Given the description of an element on the screen output the (x, y) to click on. 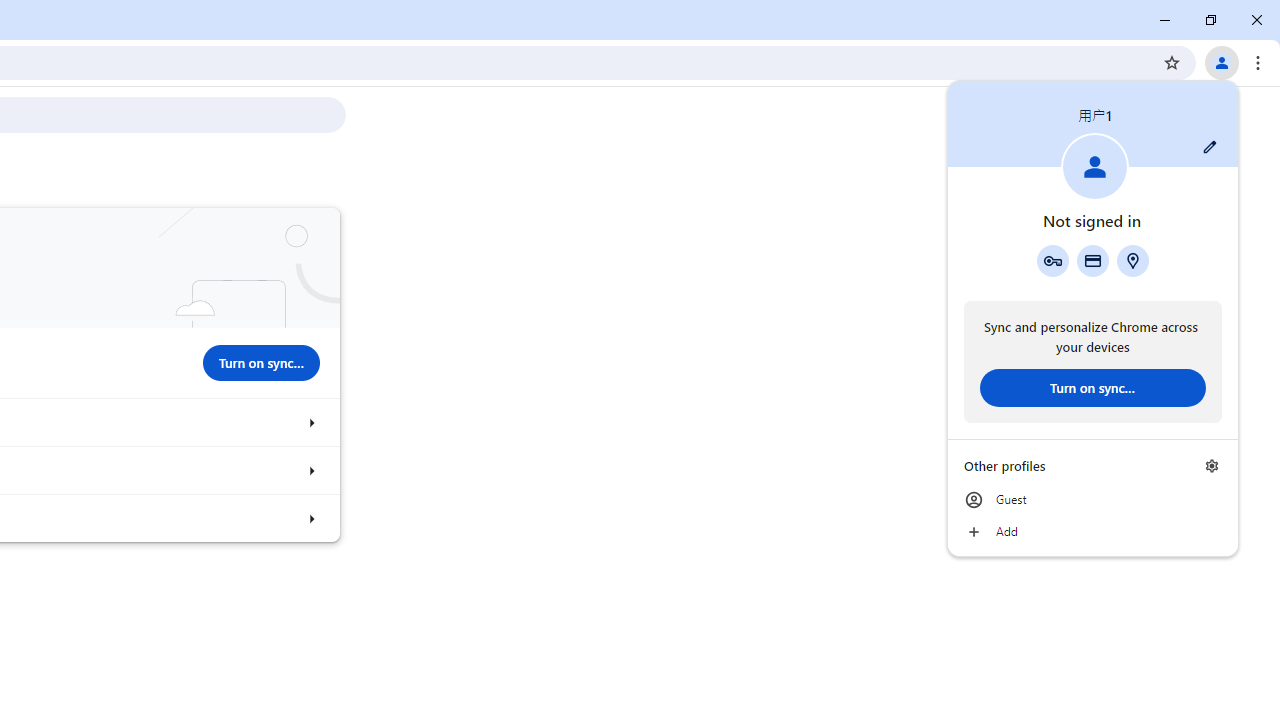
Payment methods (1092, 260)
Add (1092, 531)
Guest (1092, 499)
Customize your Chrome profile (310, 470)
Import bookmarks and settings (310, 517)
Manage profiles (1211, 465)
Addresses and more (1133, 260)
Google Password Manager (1052, 260)
Customize profile (1210, 147)
